Given the description of an element on the screen output the (x, y) to click on. 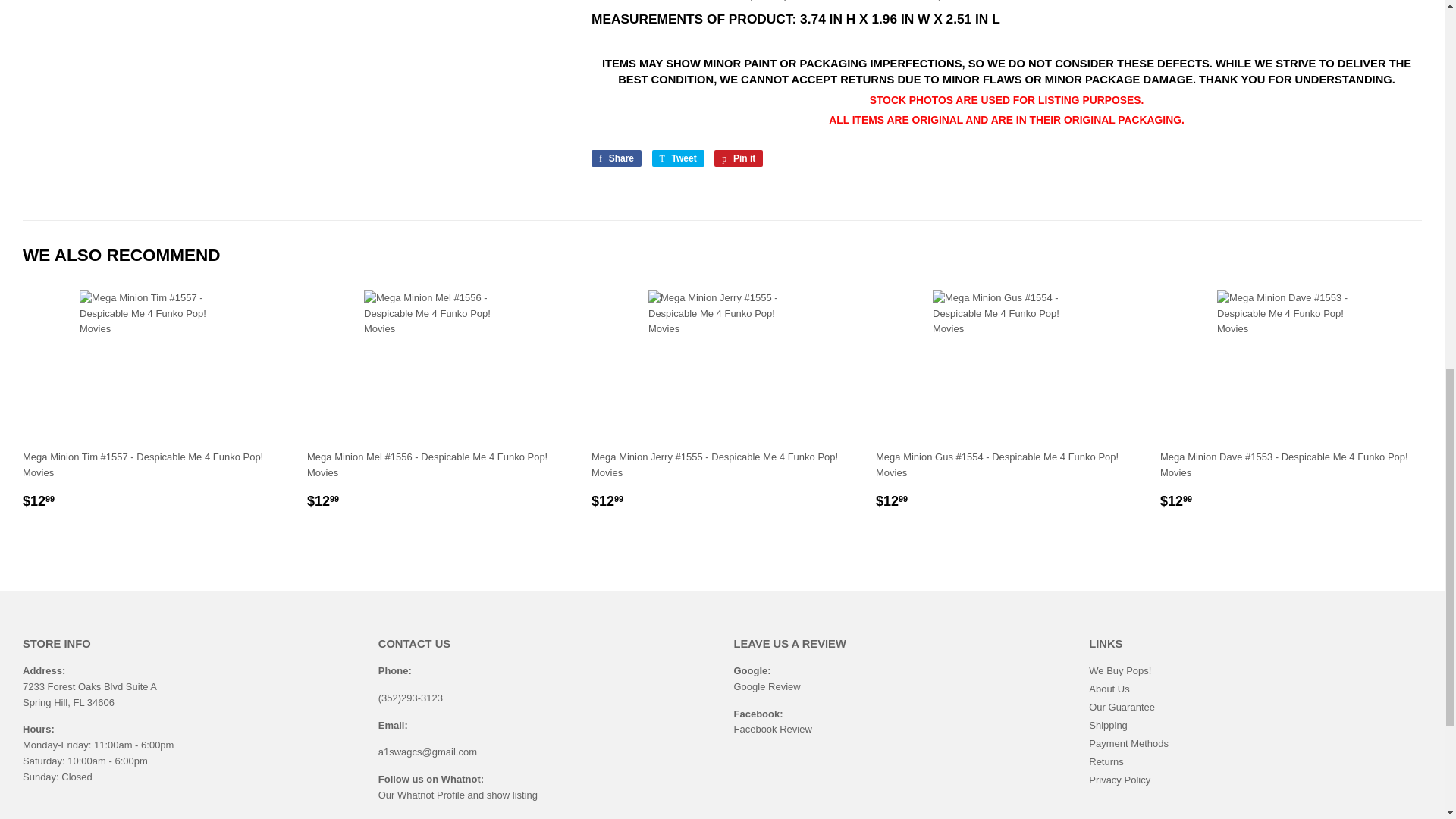
Facebook Review (772, 728)
Pin on Pinterest (738, 158)
Tweet on Twitter (678, 158)
Share on Facebook (616, 158)
Google Review (766, 686)
